Given the description of an element on the screen output the (x, y) to click on. 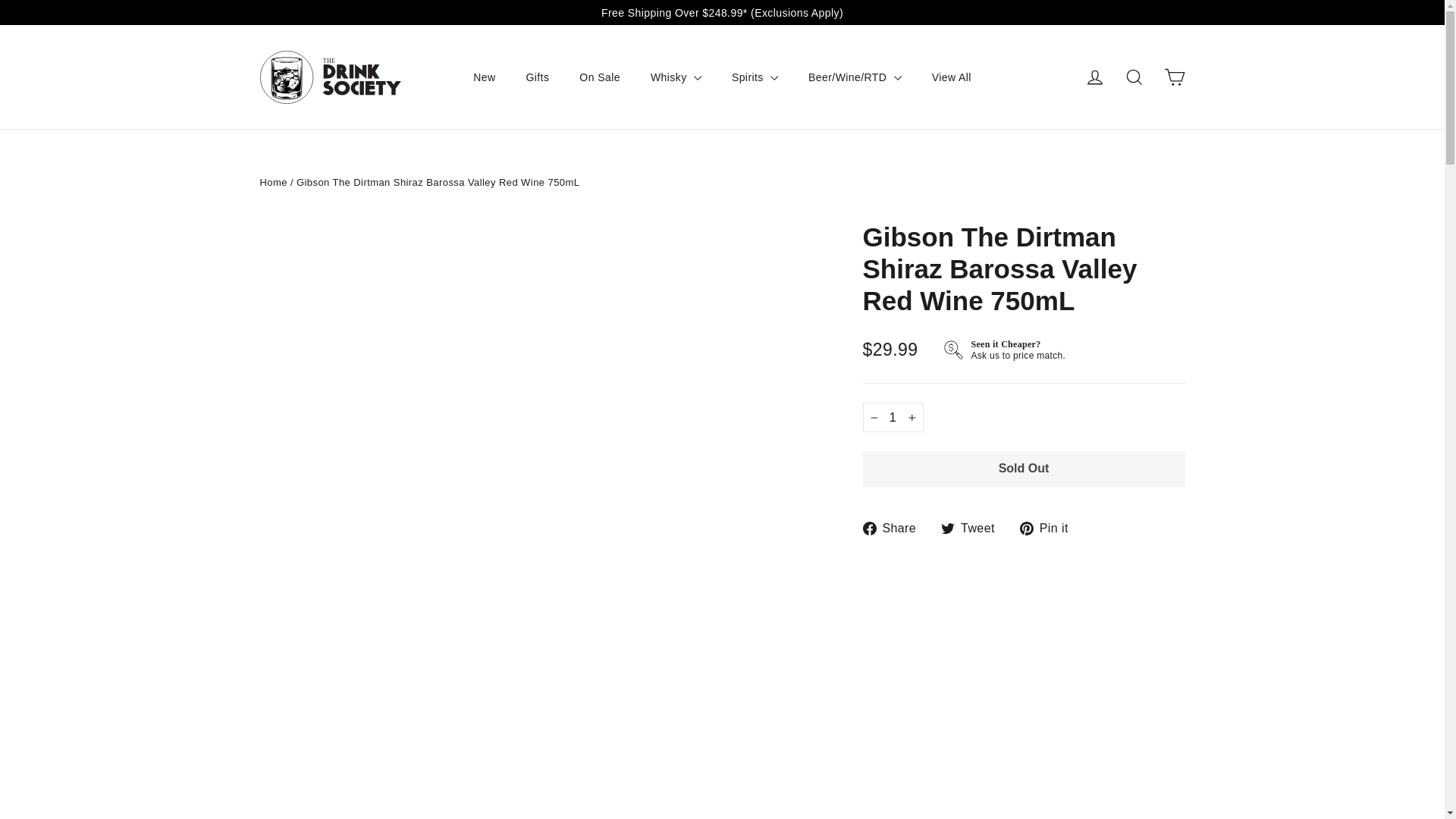
1 (893, 417)
Tweet on Twitter (973, 527)
Pin on Pinterest (1050, 527)
Share on Facebook (895, 527)
Back to the frontpage (272, 182)
